Given the description of an element on the screen output the (x, y) to click on. 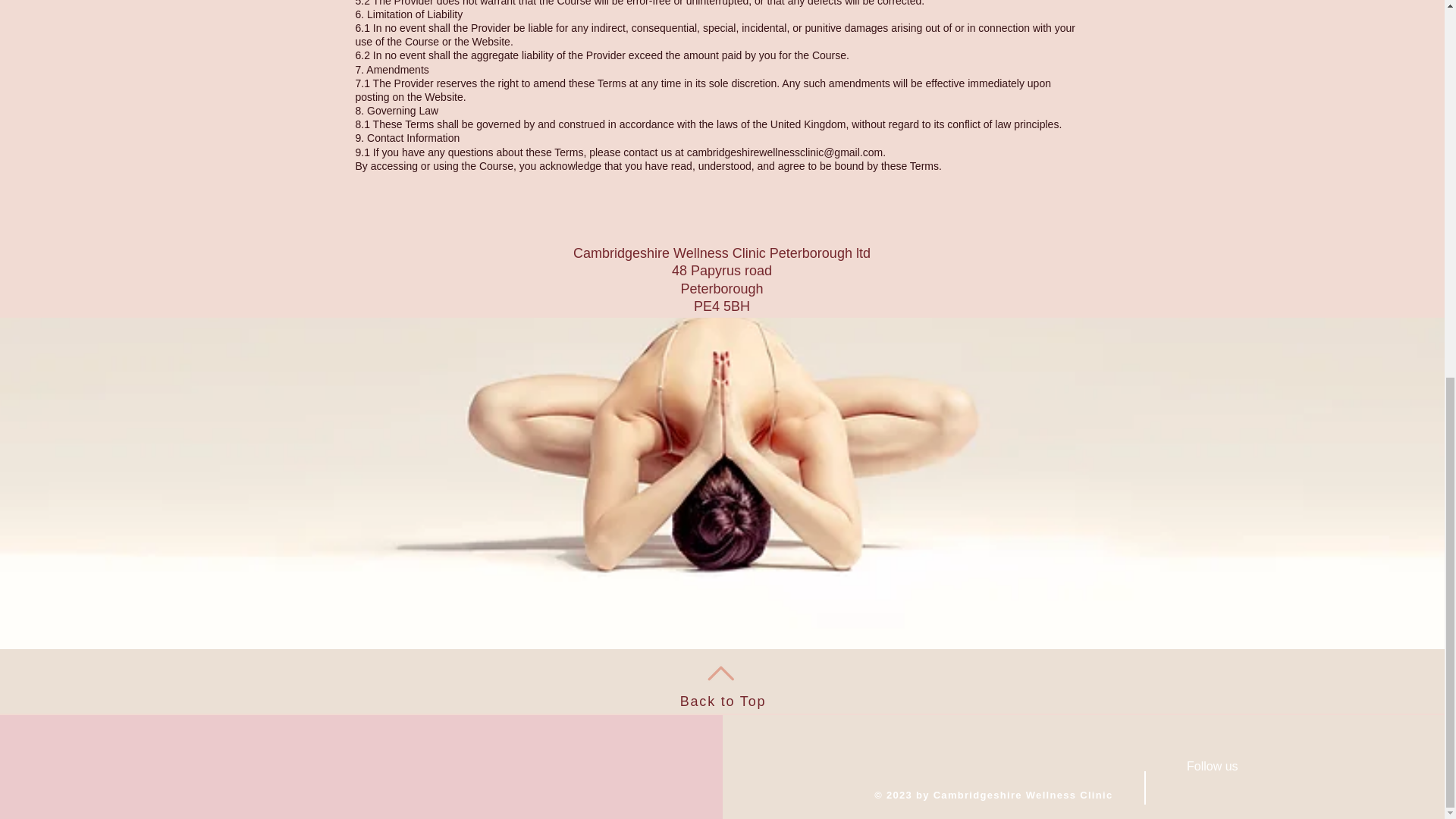
Back to Top (723, 701)
